Given the description of an element on the screen output the (x, y) to click on. 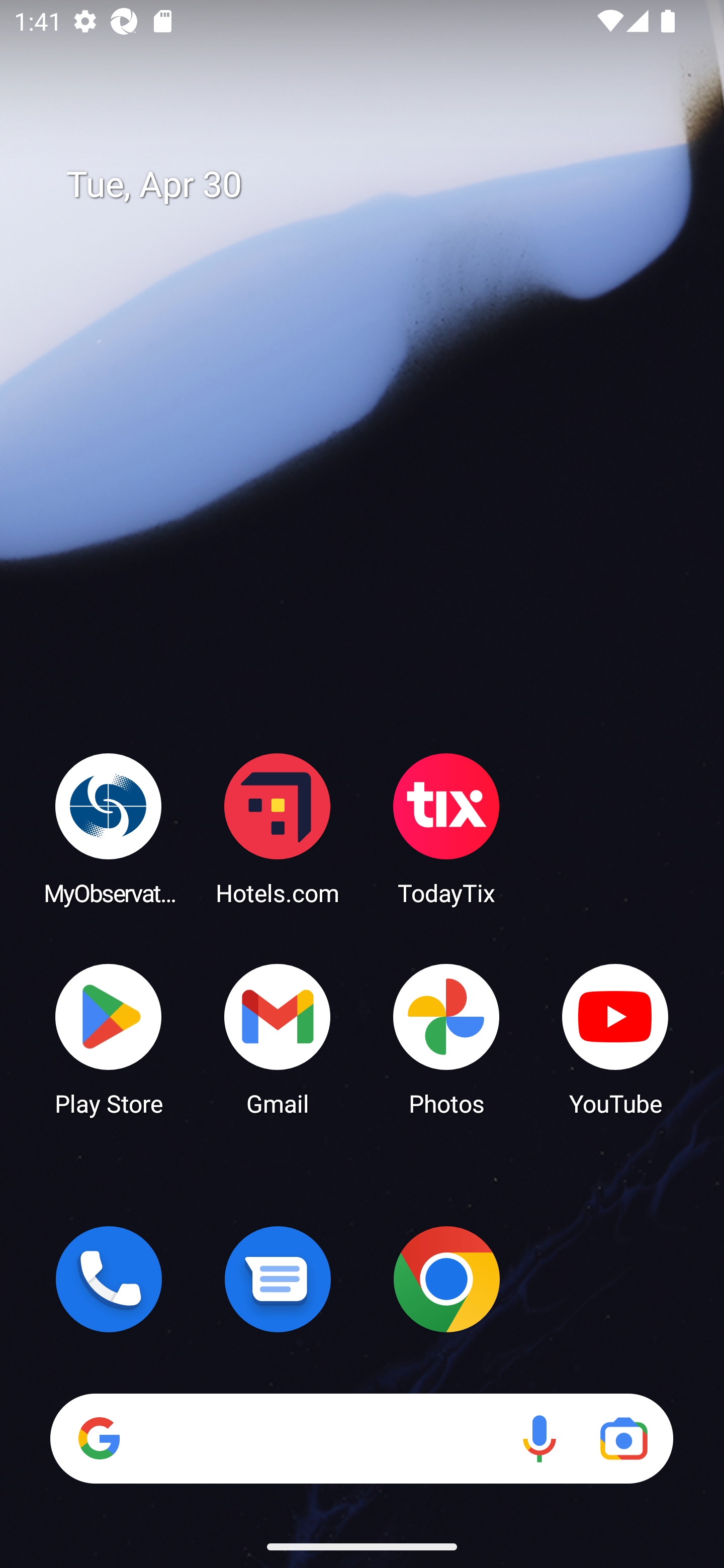
Tue, Apr 30 (375, 184)
MyObservatory (108, 828)
Hotels.com (277, 828)
TodayTix (445, 828)
Play Store (108, 1038)
Gmail (277, 1038)
Photos (445, 1038)
YouTube (615, 1038)
Phone (108, 1279)
Messages (277, 1279)
Chrome (446, 1279)
Voice search (539, 1438)
Google Lens (623, 1438)
